Given the description of an element on the screen output the (x, y) to click on. 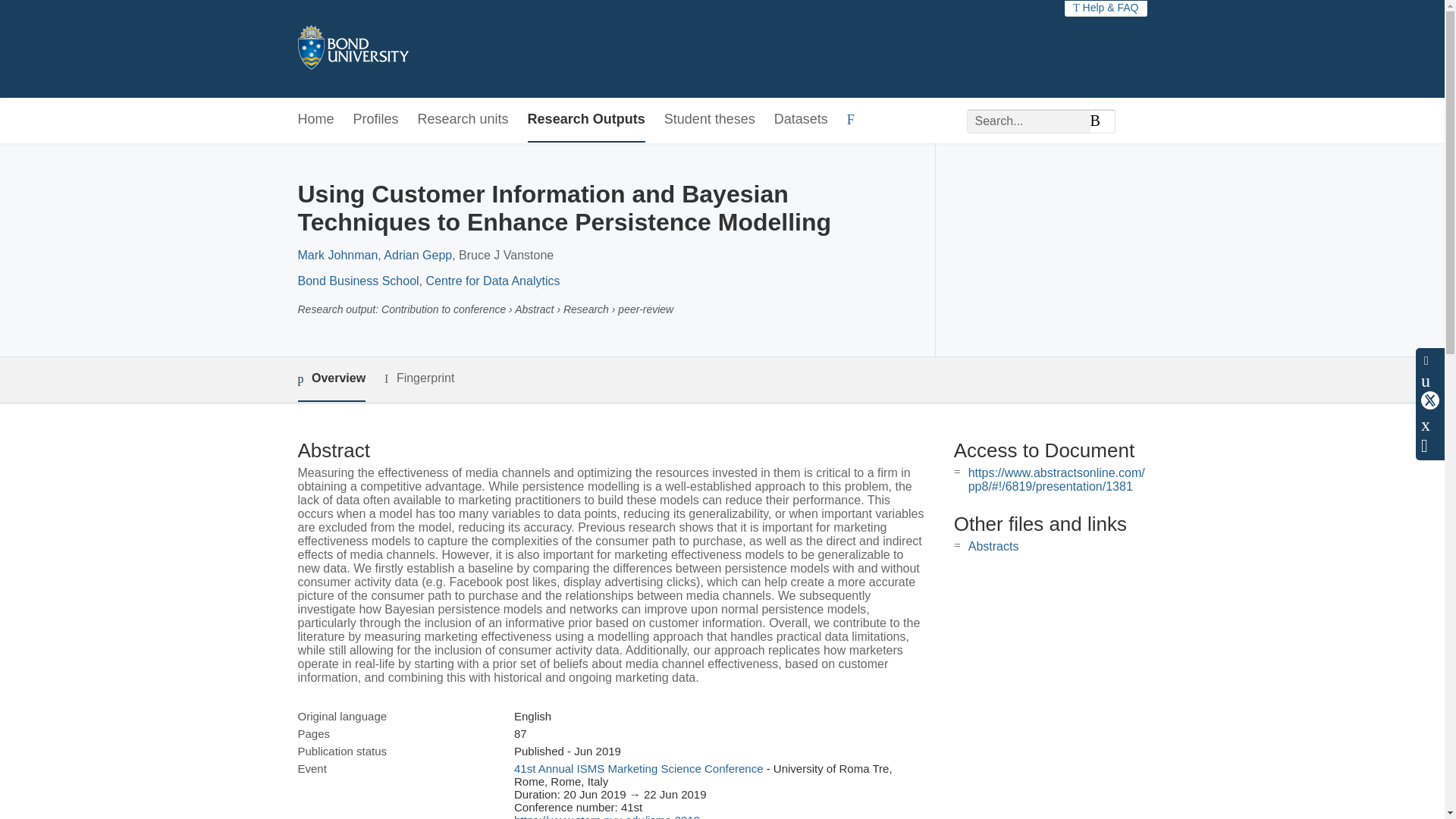
Profiles (375, 119)
Research units (462, 119)
Datasets (801, 119)
Mark Johnman (337, 254)
41st Annual ISMS Marketing Science Conference (637, 768)
Bond University Research Portal Home (352, 48)
Fingerprint (419, 378)
Bond Business School (358, 280)
Research Outputs (586, 119)
